Given the description of an element on the screen output the (x, y) to click on. 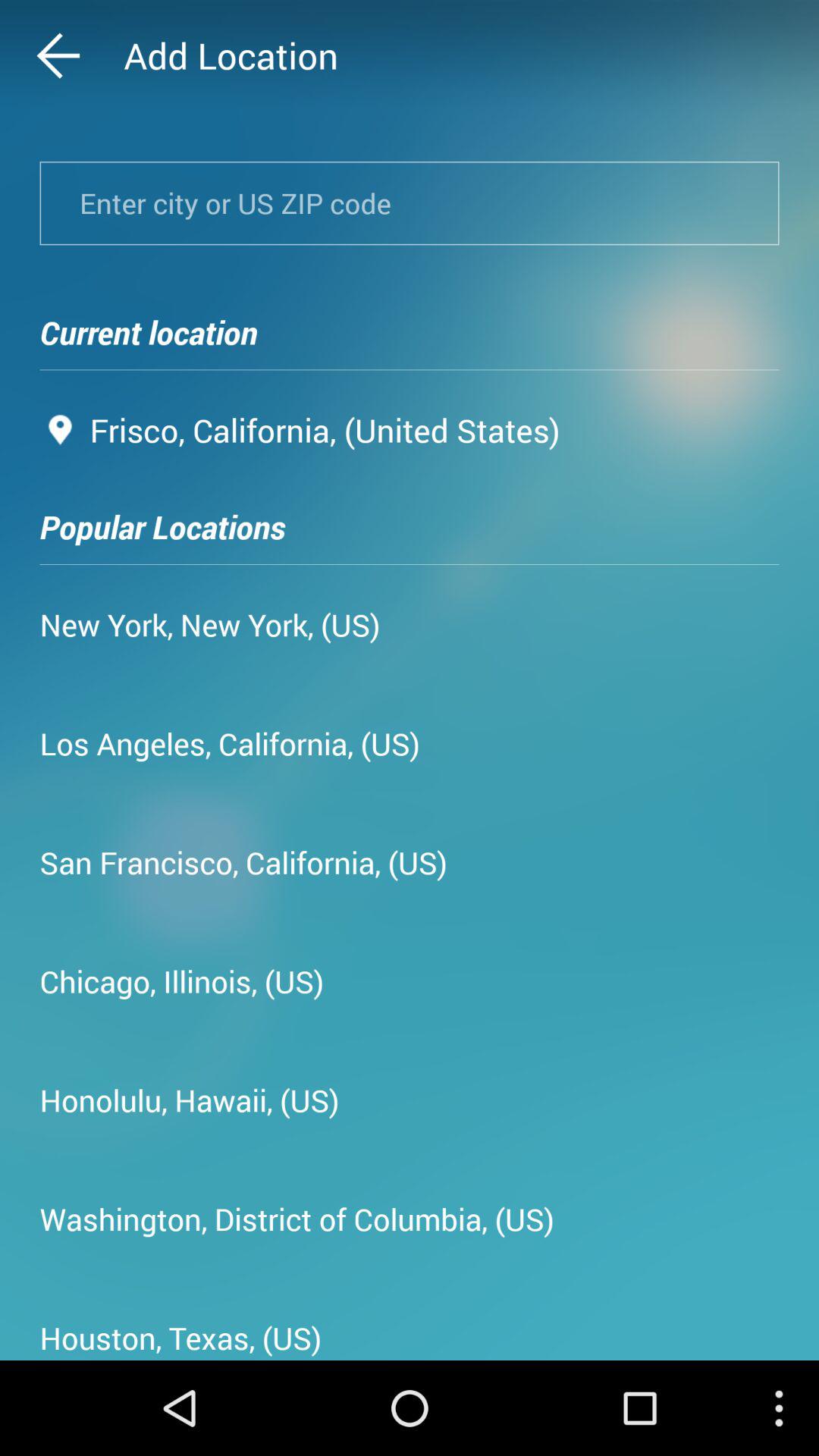
flip until the chicago, illinois, (us) app (182, 980)
